Given the description of an element on the screen output the (x, y) to click on. 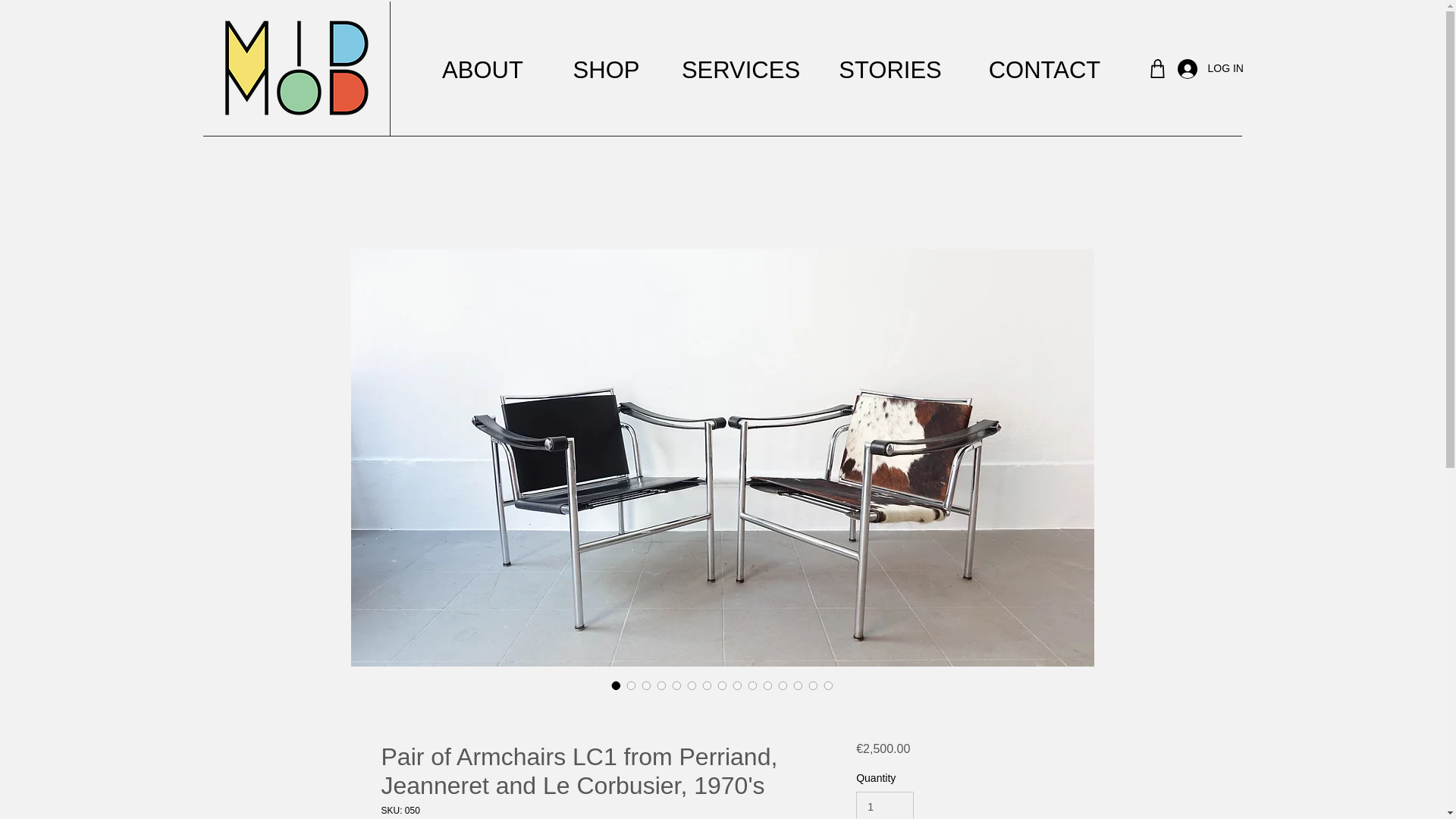
STORIES (888, 69)
1 (885, 805)
LOG IN (1194, 68)
SHOP (605, 69)
ABOUT (482, 69)
SERVICES (739, 69)
CONTACT (1042, 69)
